Given the description of an element on the screen output the (x, y) to click on. 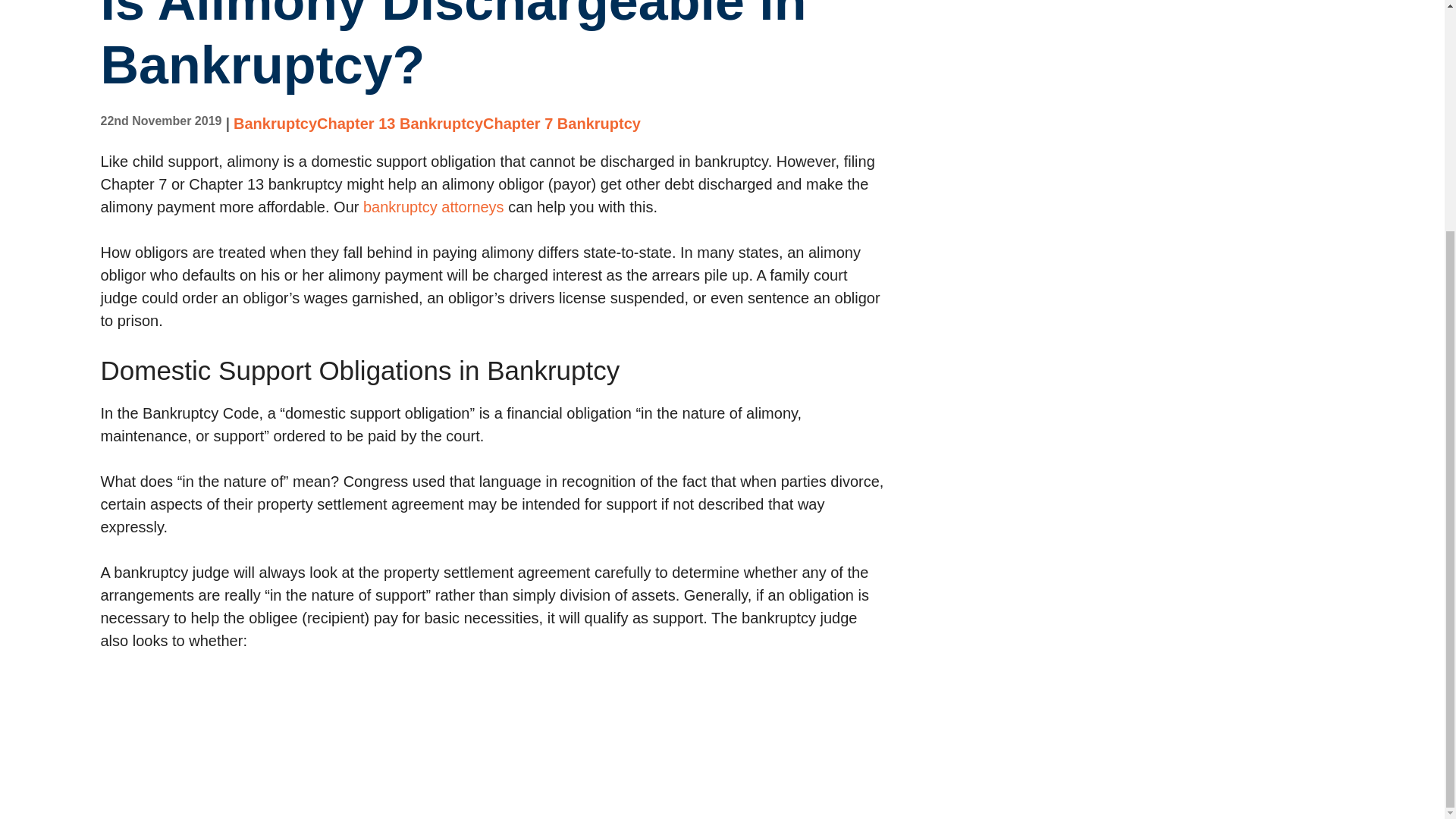
Chapter 7 Bankruptcy (561, 123)
Chapter 13 Bankruptcy (400, 123)
Bankruptcy (274, 123)
22nd November 2019 (160, 121)
bankruptcy attorneys (432, 207)
